Given the description of an element on the screen output the (x, y) to click on. 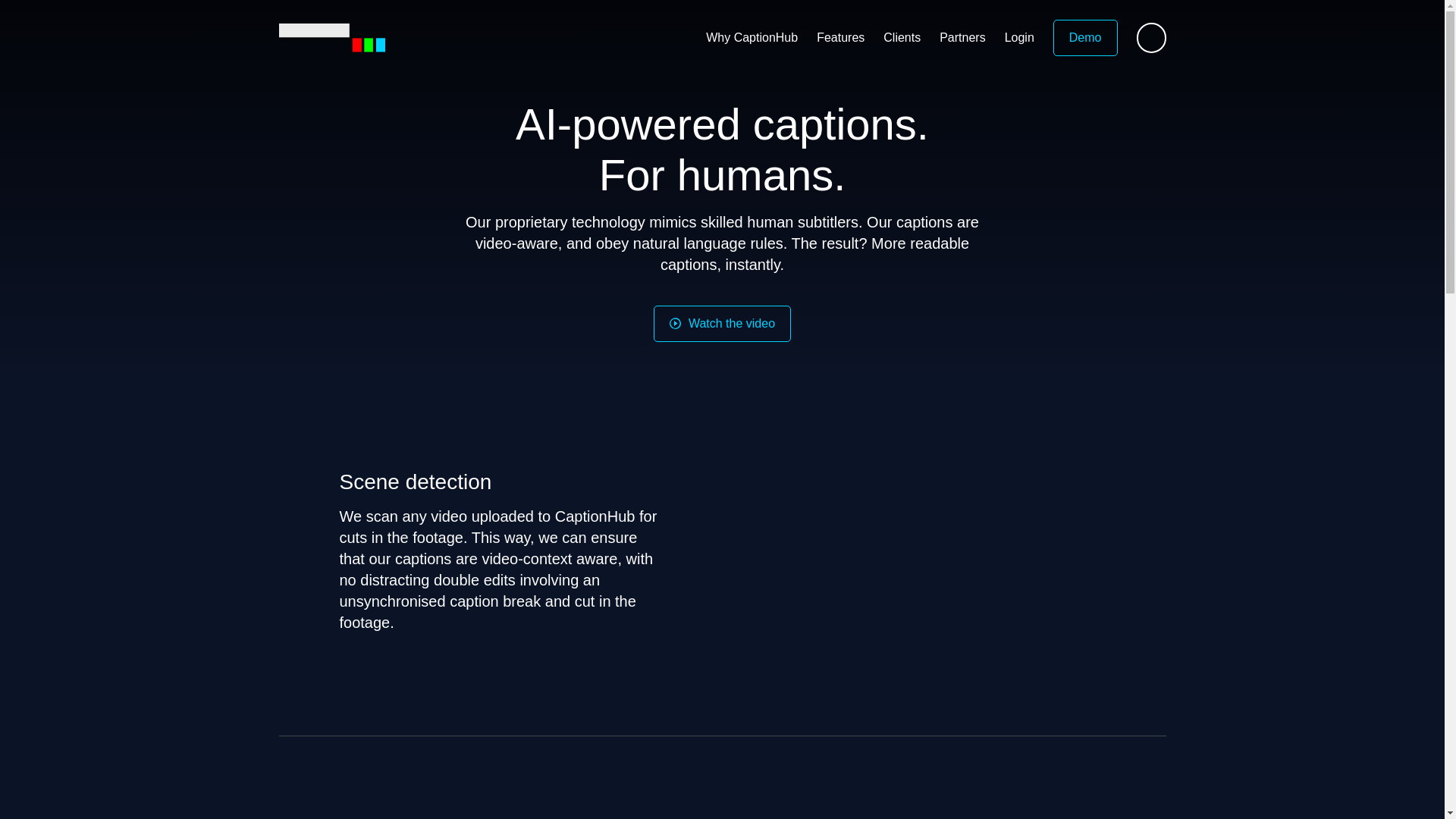
Why CaptionHub (751, 37)
Watch the video (721, 322)
Clients (901, 37)
Partners (962, 37)
Login (1018, 37)
Demo (1085, 37)
Features (840, 37)
